Given the description of an element on the screen output the (x, y) to click on. 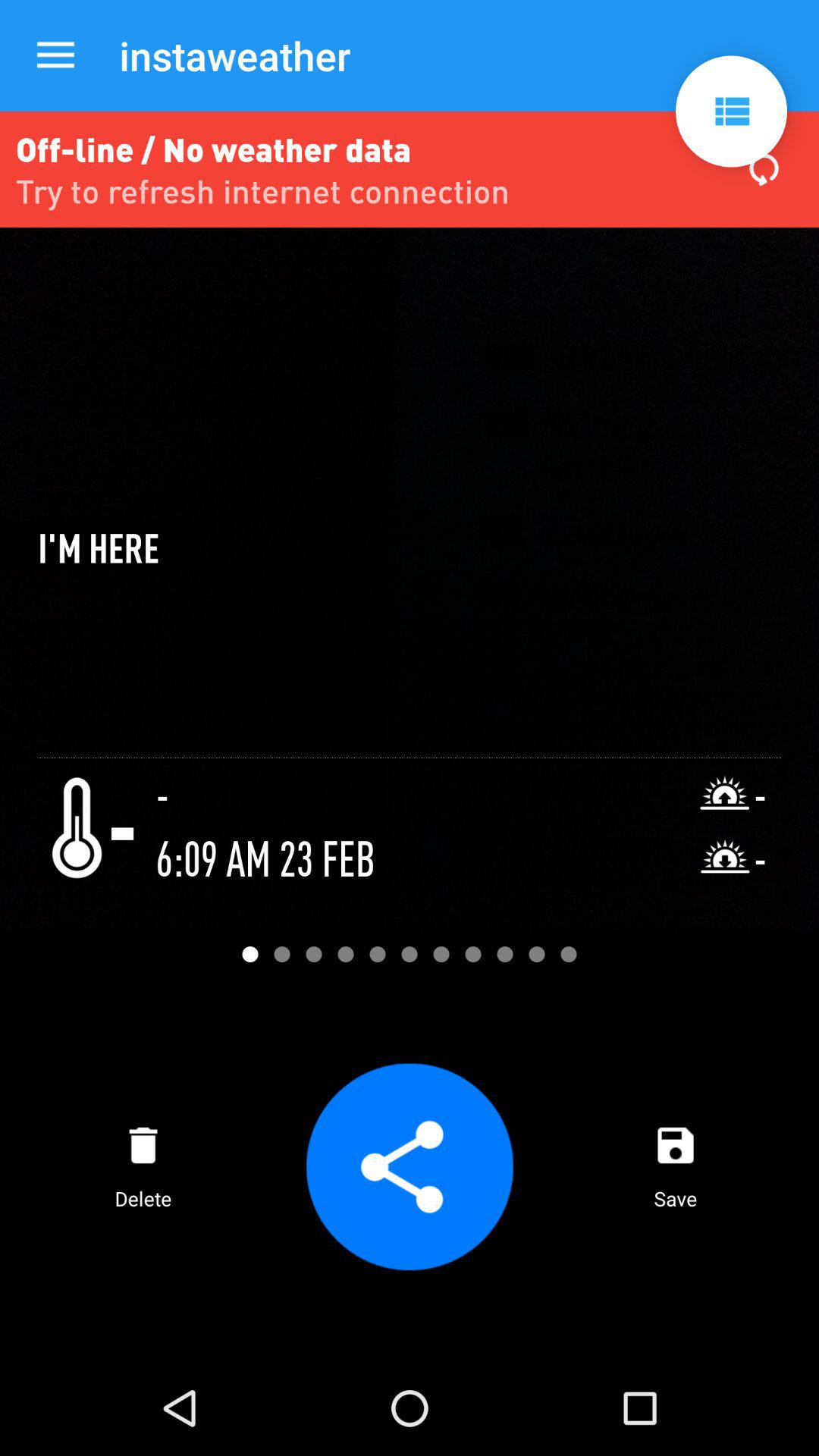
click the icon next to delete item (409, 1166)
